Given the description of an element on the screen output the (x, y) to click on. 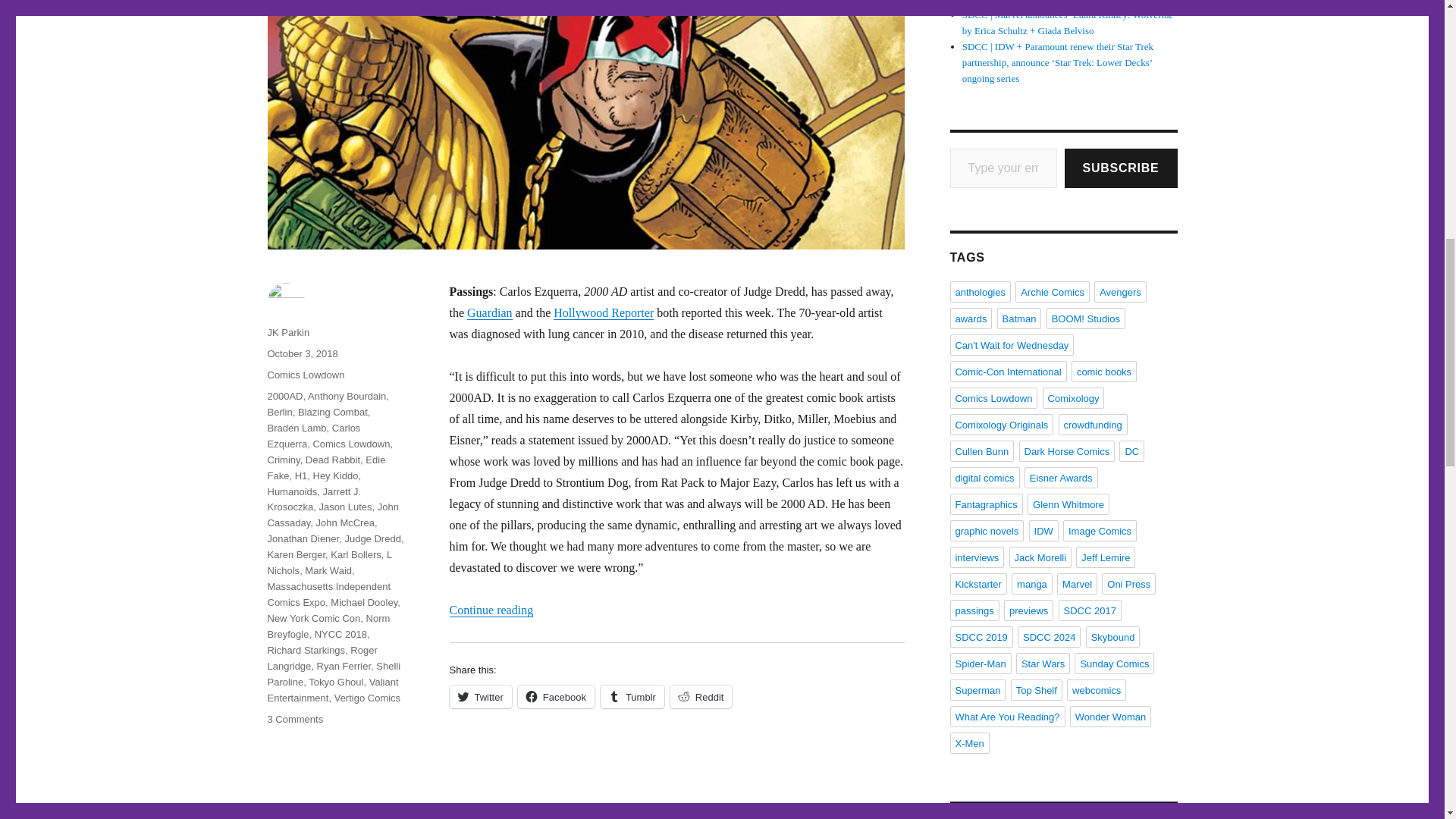
Braden Lamb (296, 428)
Carlos Ezquerra (312, 435)
Edie Fake (325, 467)
Anthony Bourdain (346, 396)
Comics Lowdown (304, 374)
Click to share on Facebook (556, 696)
Humanoids (291, 490)
Guardian (489, 312)
Please fill in this field. (1003, 168)
October 3, 2018 (301, 353)
Click to share on Tumblr (631, 696)
Reddit (700, 696)
Click to share on Reddit (700, 696)
H1 (301, 475)
Jarrett J. Krosoczka (313, 498)
